Given the description of an element on the screen output the (x, y) to click on. 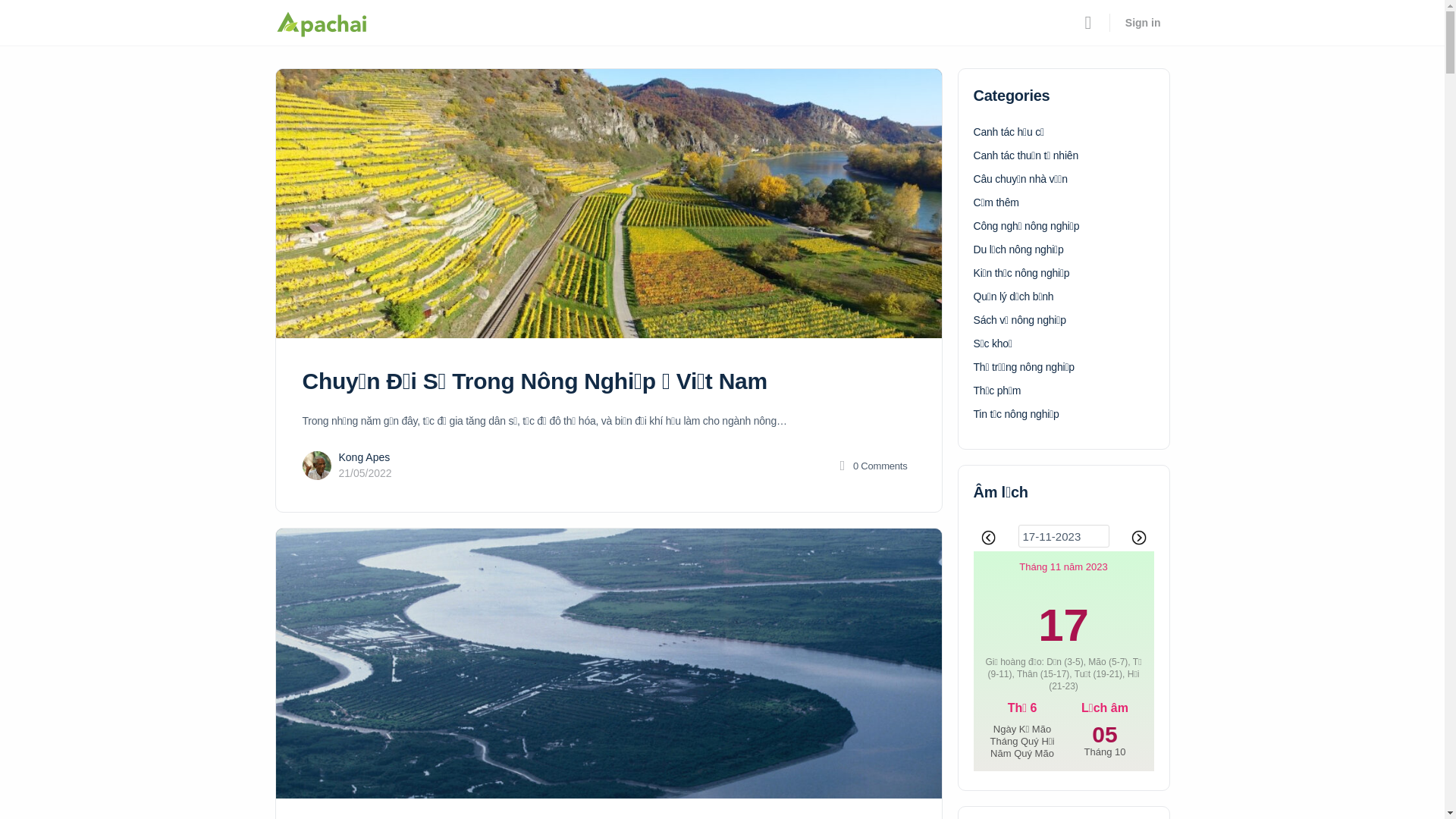
0 Comments Element type: text (871, 465)
Sign in Element type: text (1143, 22)
Kong Apes Element type: text (363, 457)
21/05/2022 Element type: text (364, 473)
